Given the description of an element on the screen output the (x, y) to click on. 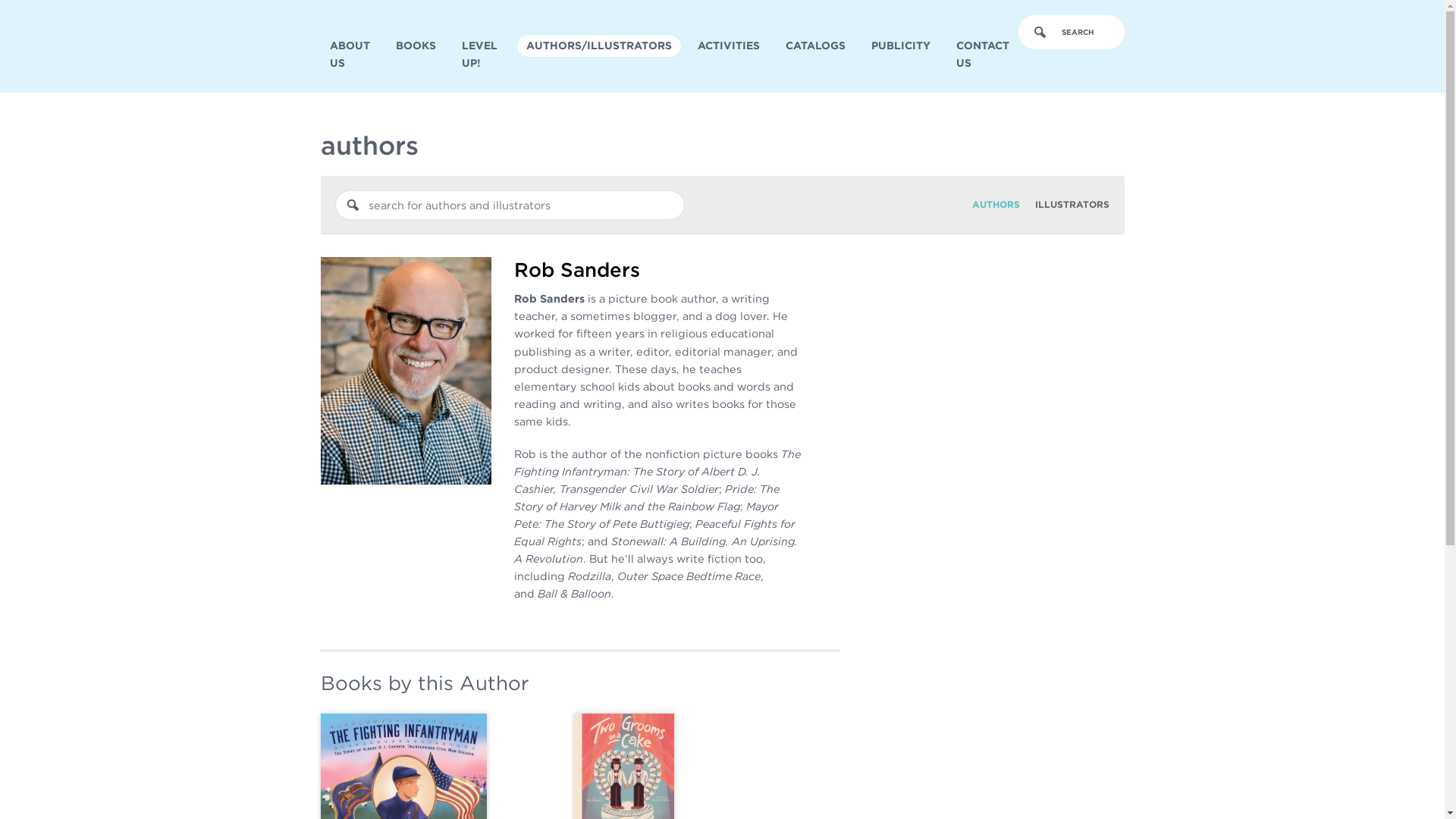
ACTIVITIES (728, 45)
CONTACT US (981, 54)
ABOUT US (349, 54)
ILLUSTRATORS (1070, 204)
CATALOGS (815, 45)
PUBLICITY (900, 45)
AUTHORS (996, 204)
9781499809367 (403, 766)
BOOKS (416, 45)
LEVEL UP! (480, 54)
